Given the description of an element on the screen output the (x, y) to click on. 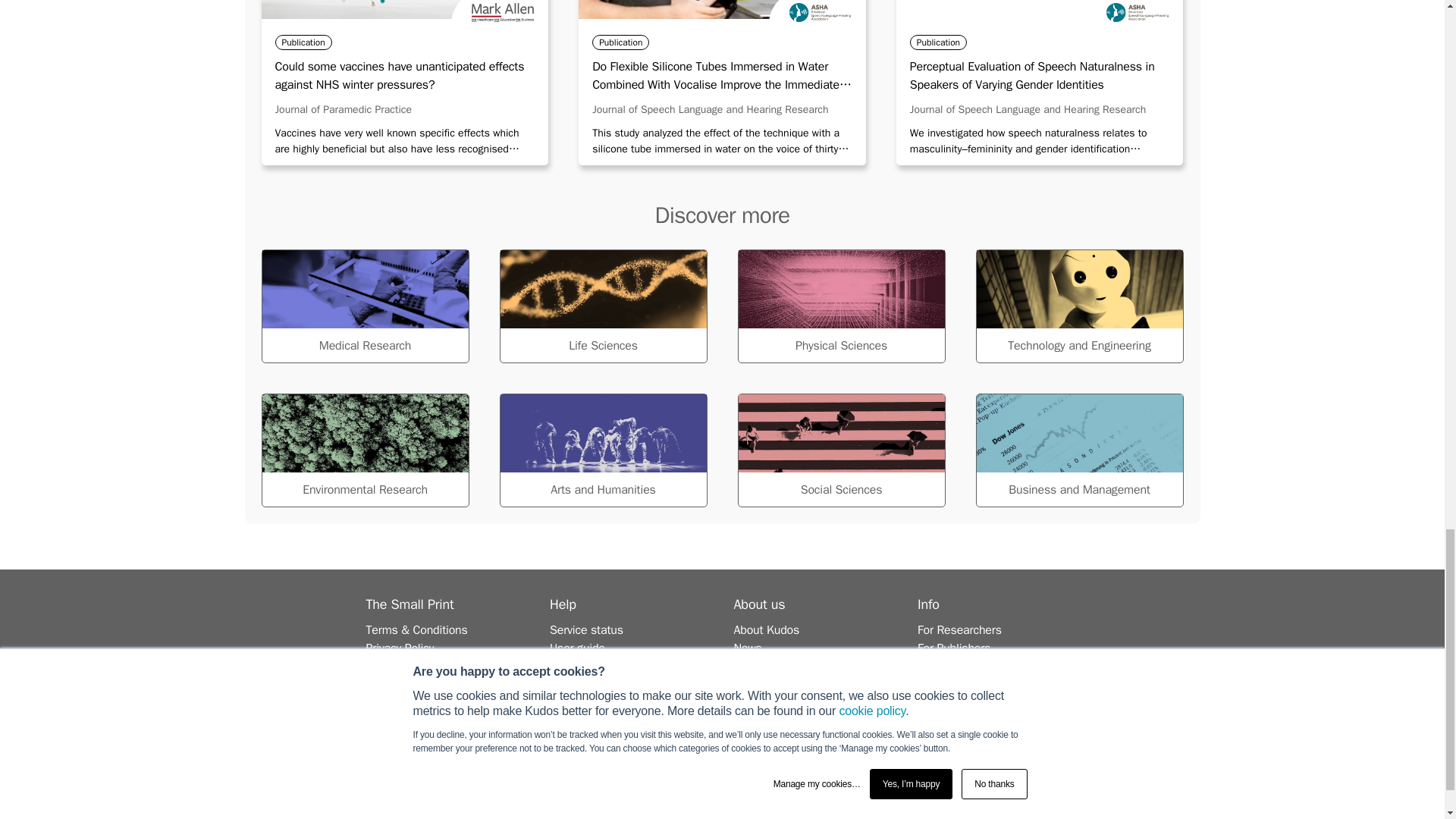
Contact us (577, 684)
Journal of Speech Language and Hearing Research (1027, 109)
Technology and Engineering (1078, 306)
Arts and Humanities (602, 449)
User guide (577, 648)
Service status (586, 630)
